Given the description of an element on the screen output the (x, y) to click on. 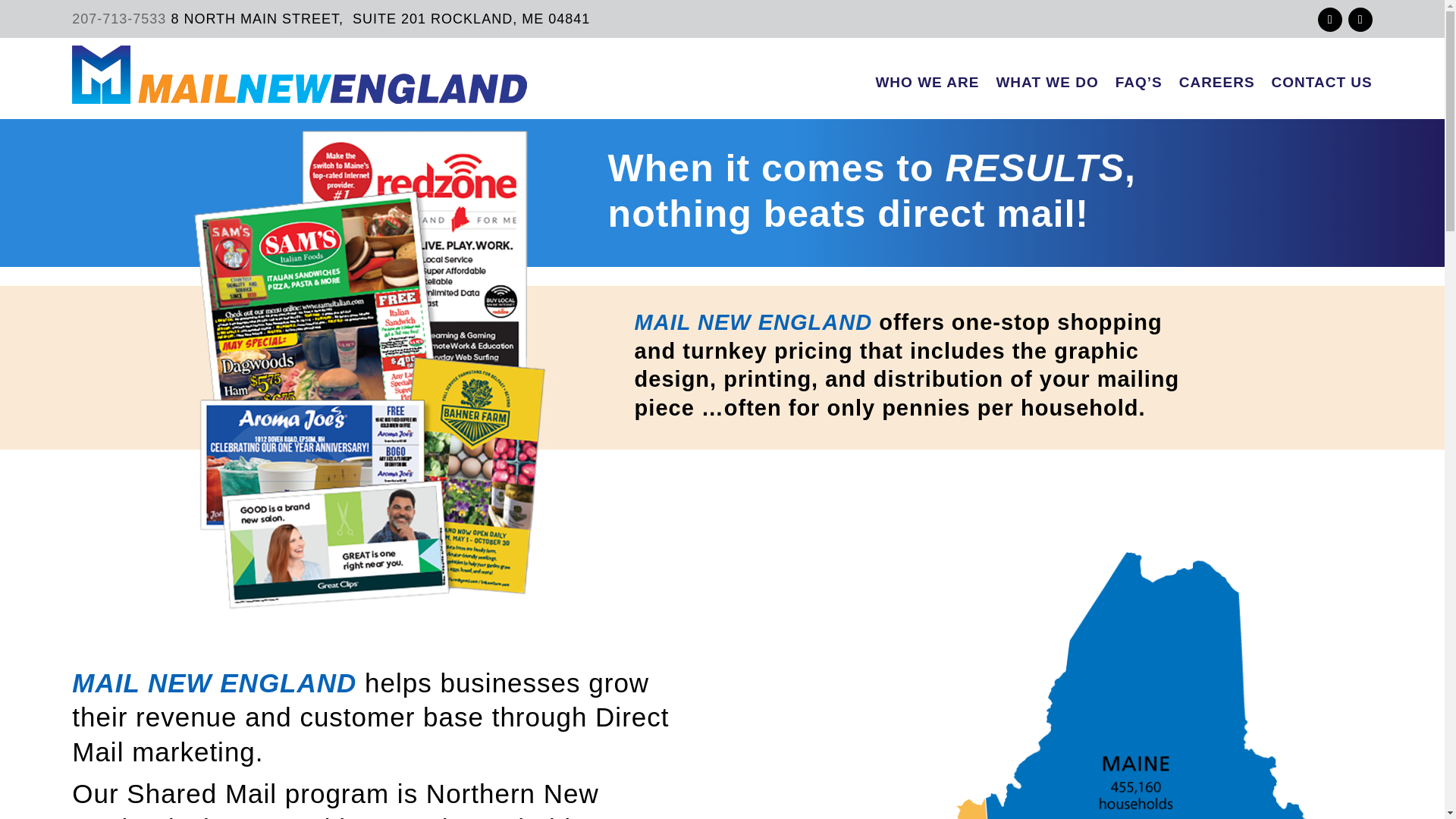
Follow on LinkedIn (1360, 19)
CAREERS (1217, 77)
WHAT WE DO (1046, 77)
207-713-7533 (120, 18)
Follow on Facebook (1329, 19)
CONTACT US (1322, 77)
WHO WE ARE (926, 77)
